Given the description of an element on the screen output the (x, y) to click on. 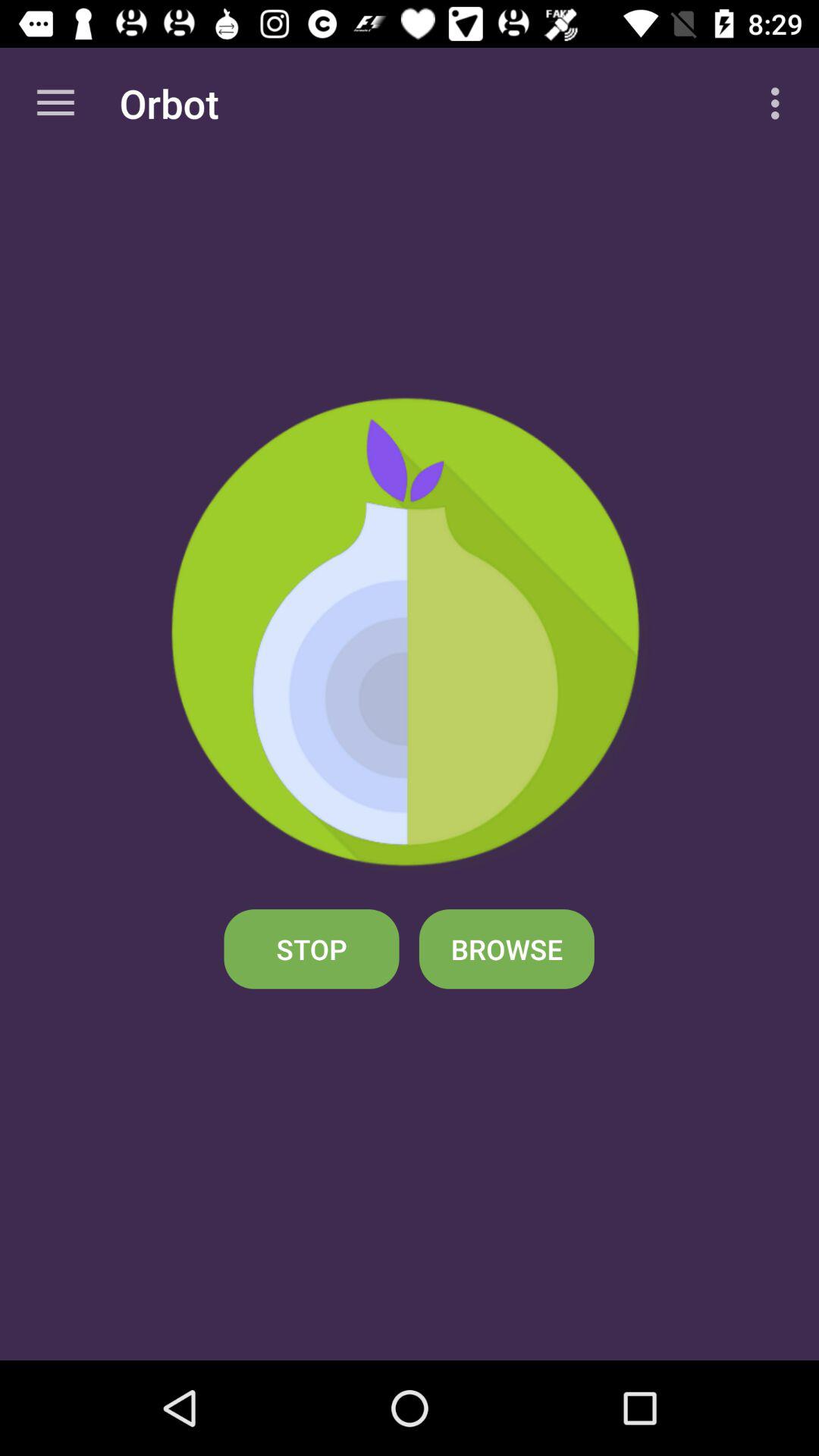
click app next to the orbot app (779, 103)
